Given the description of an element on the screen output the (x, y) to click on. 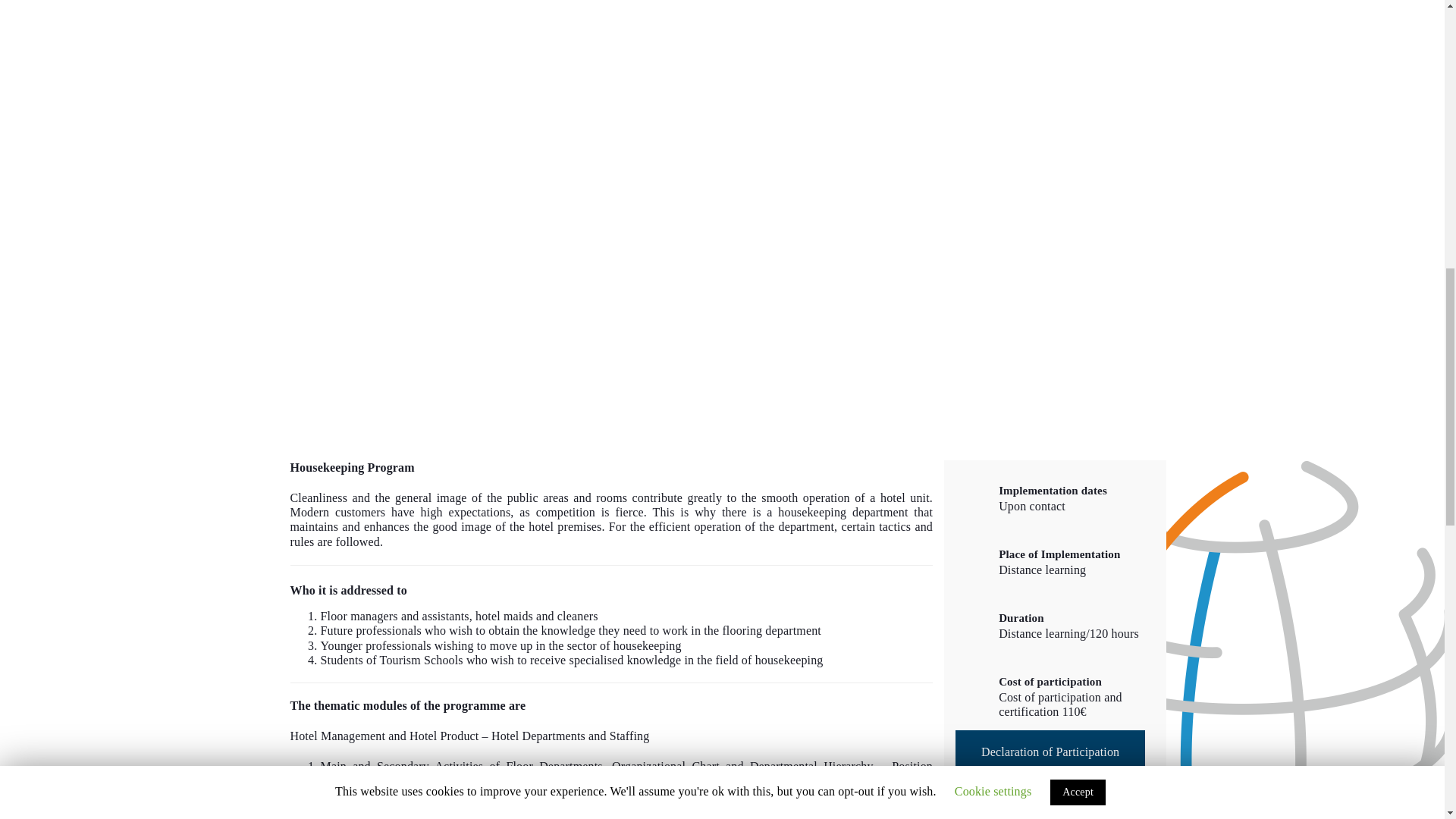
Declaration of Participation (1049, 751)
